Given the description of an element on the screen output the (x, y) to click on. 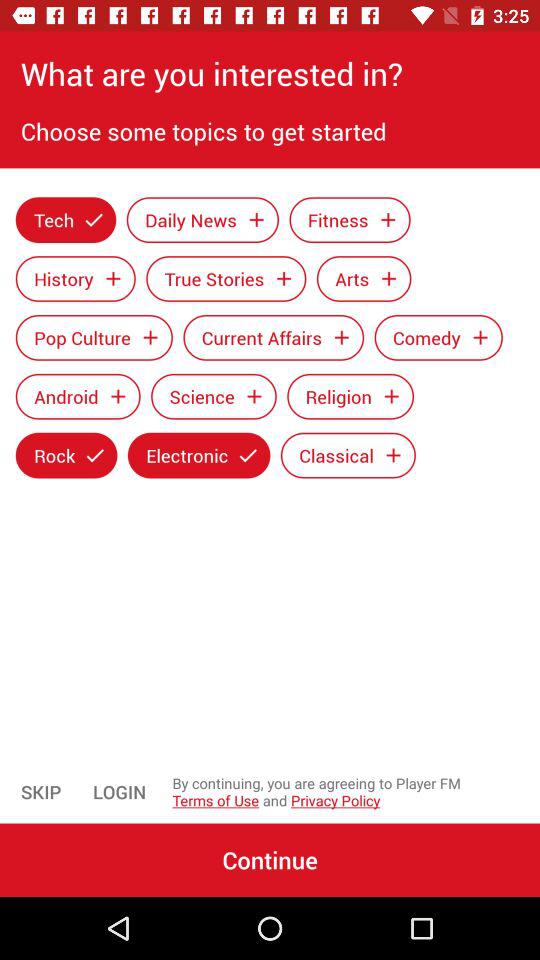
choose the icon next to the by continuing you item (119, 791)
